Given the description of an element on the screen output the (x, y) to click on. 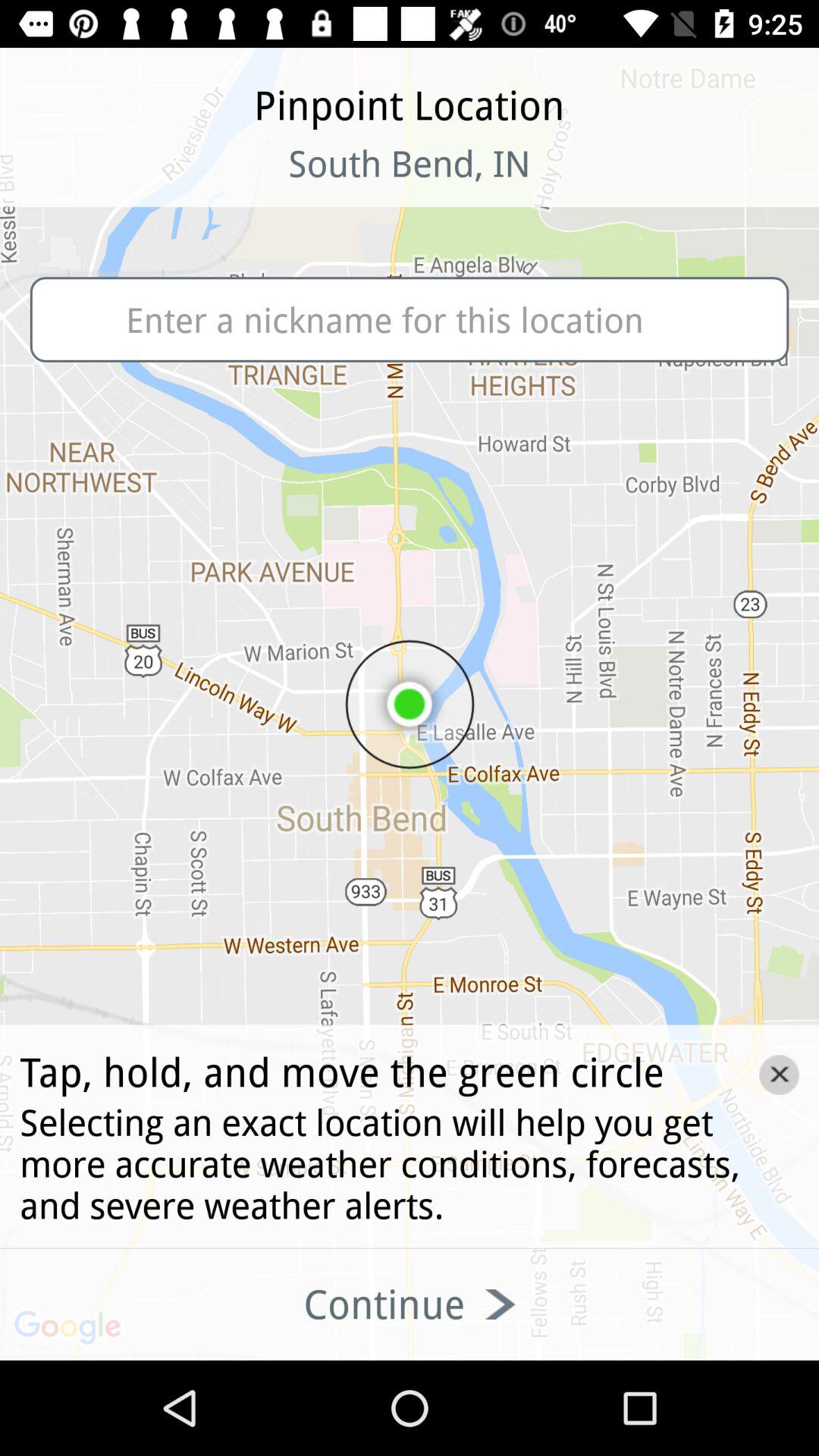
click on the nickname for this location text field below south bend in (409, 319)
select the logo on the bottom left corner of the web page (69, 1328)
